Given the description of an element on the screen output the (x, y) to click on. 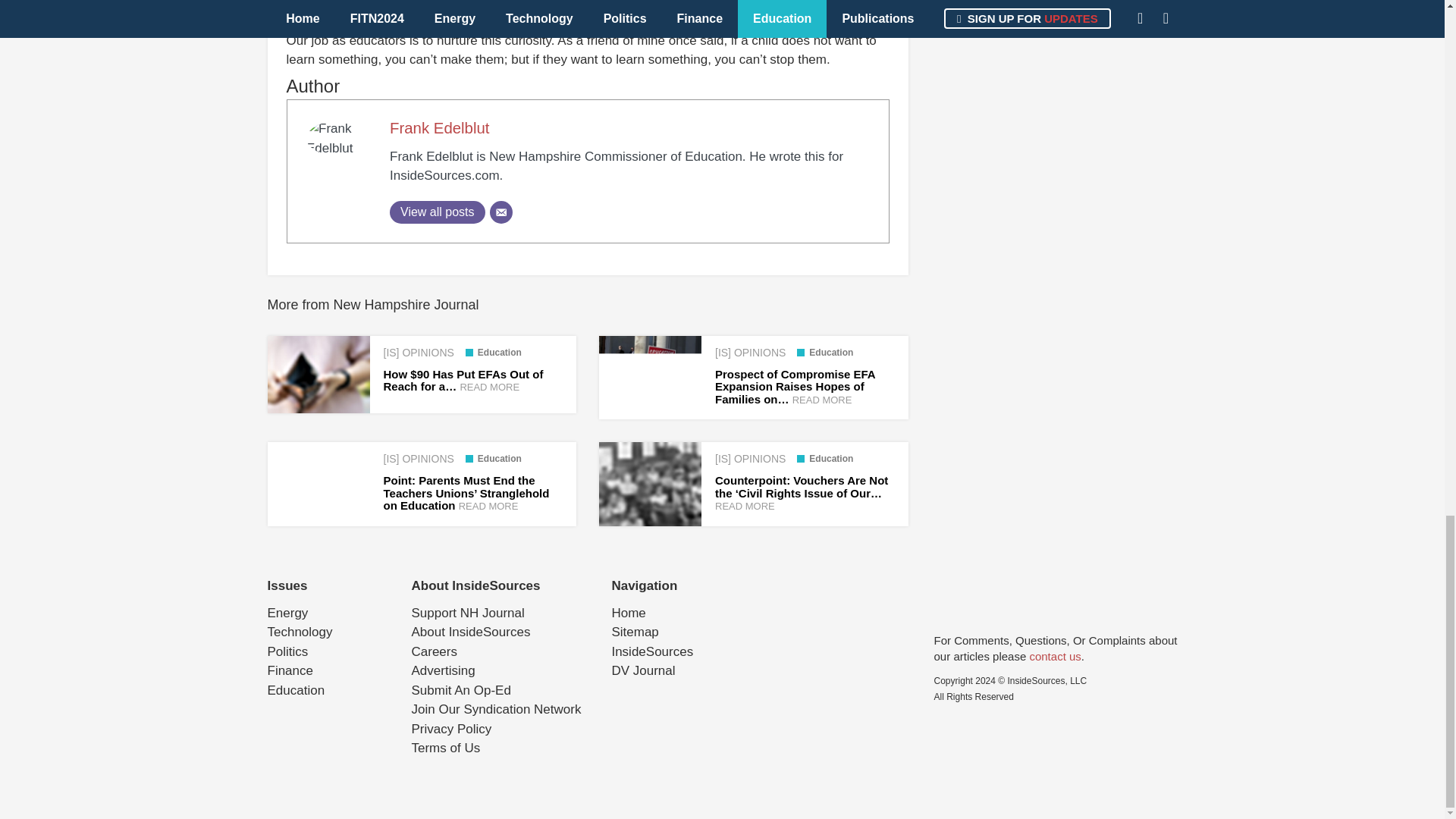
View all posts in Education (824, 352)
View all posts in Education (493, 352)
View all posts (437, 211)
Frank Edelblut (439, 127)
View all posts in Education (493, 458)
Frank Edelblut (439, 127)
View all posts (437, 211)
View all posts in Education (824, 458)
Education (493, 352)
Education (824, 352)
